Given the description of an element on the screen output the (x, y) to click on. 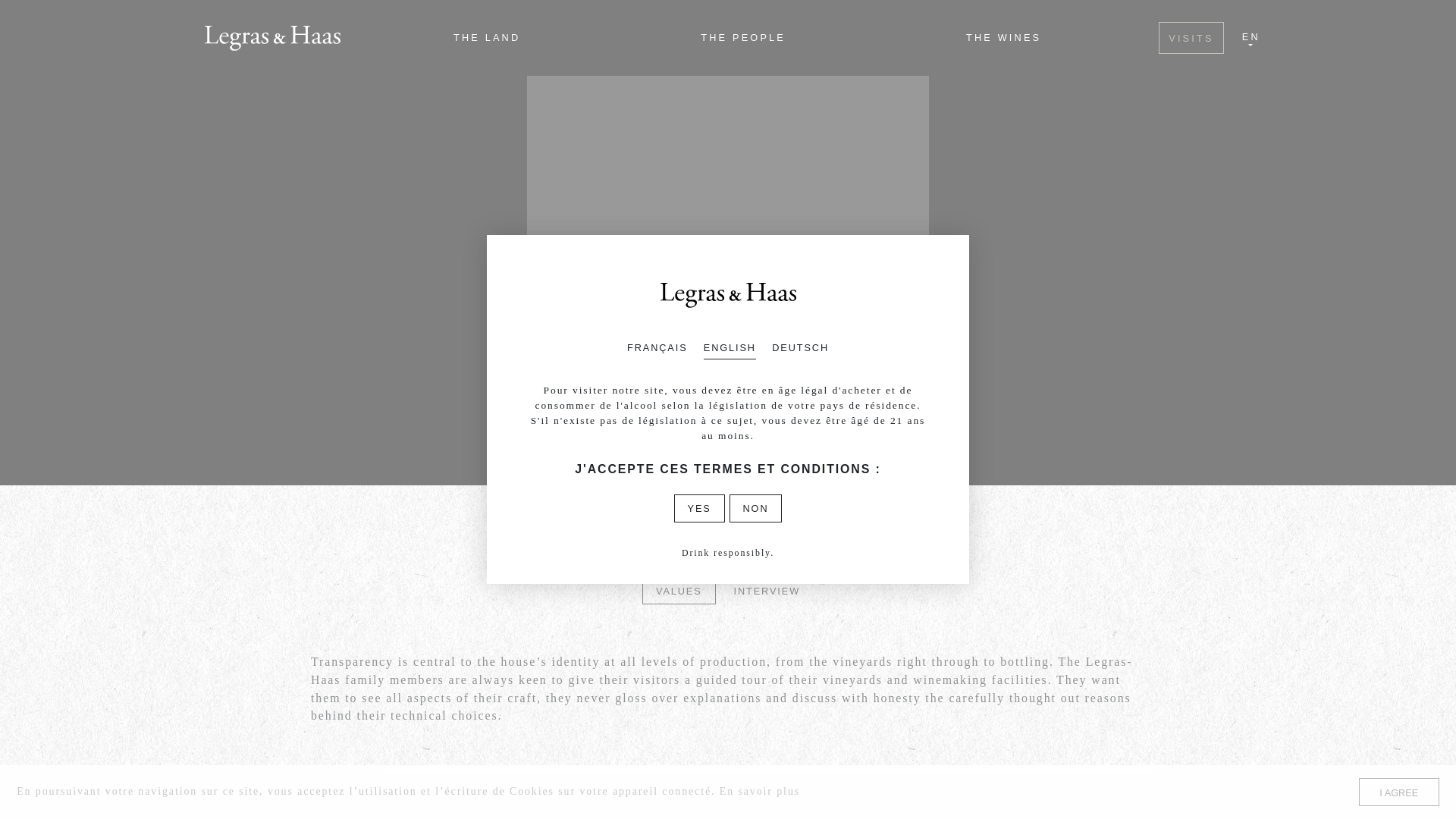
VALUES (319, 529)
VALUES (1135, 529)
